Given the description of an element on the screen output the (x, y) to click on. 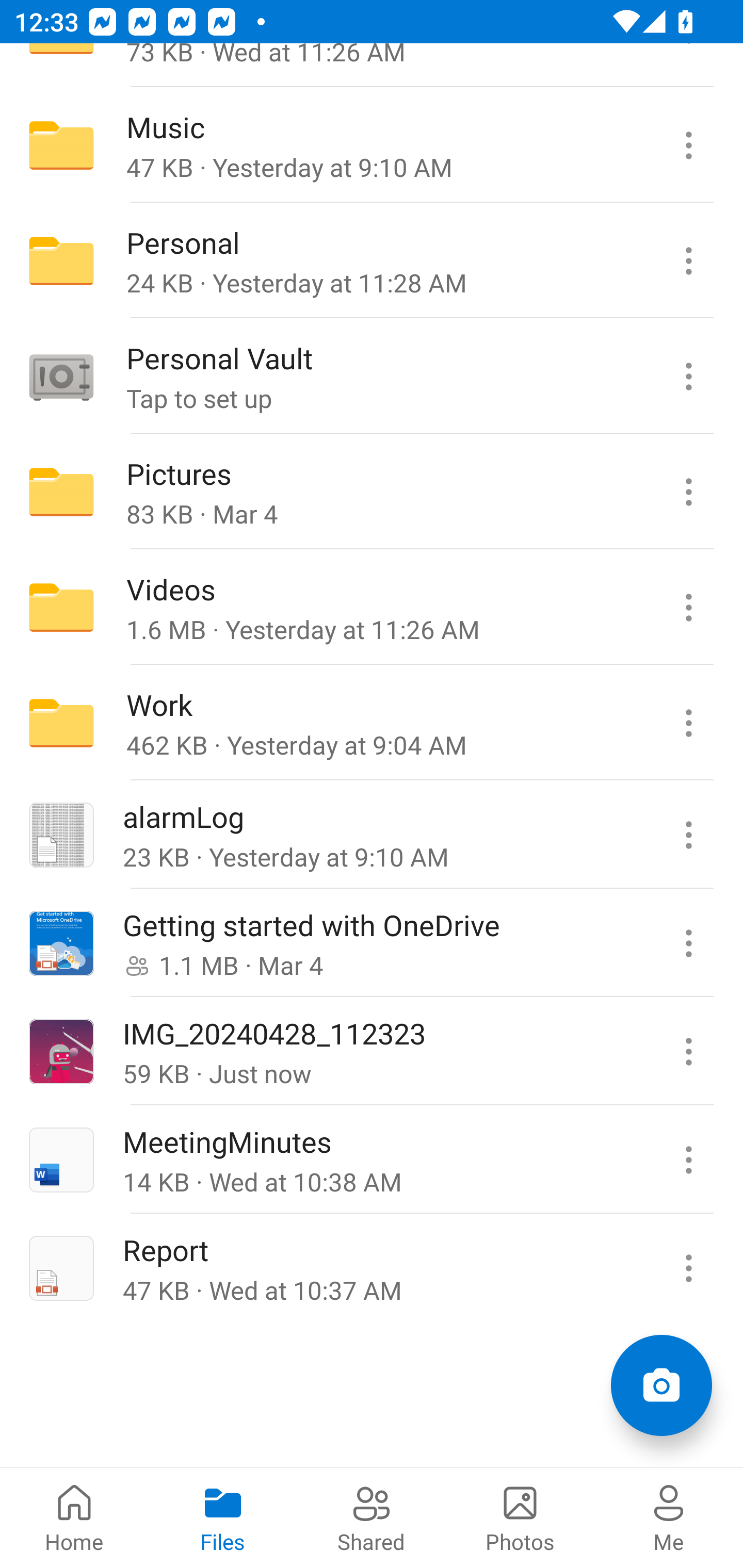
Music commands (688, 145)
Personal commands (688, 260)
Personal Vault commands (688, 376)
Folder Pictures 83 KB · Mar 4 Pictures commands (371, 492)
Pictures commands (688, 492)
Videos commands (688, 607)
Work commands (688, 722)
alarmLog commands (688, 834)
Getting started with OneDrive commands (688, 943)
IMG_20240428_112323 commands (688, 1051)
MeetingMinutes commands (688, 1159)
Report commands (688, 1267)
Add items Scan (660, 1385)
Home pivot Home (74, 1517)
Shared pivot Shared (371, 1517)
Photos pivot Photos (519, 1517)
Me pivot Me (668, 1517)
